Given the description of an element on the screen output the (x, y) to click on. 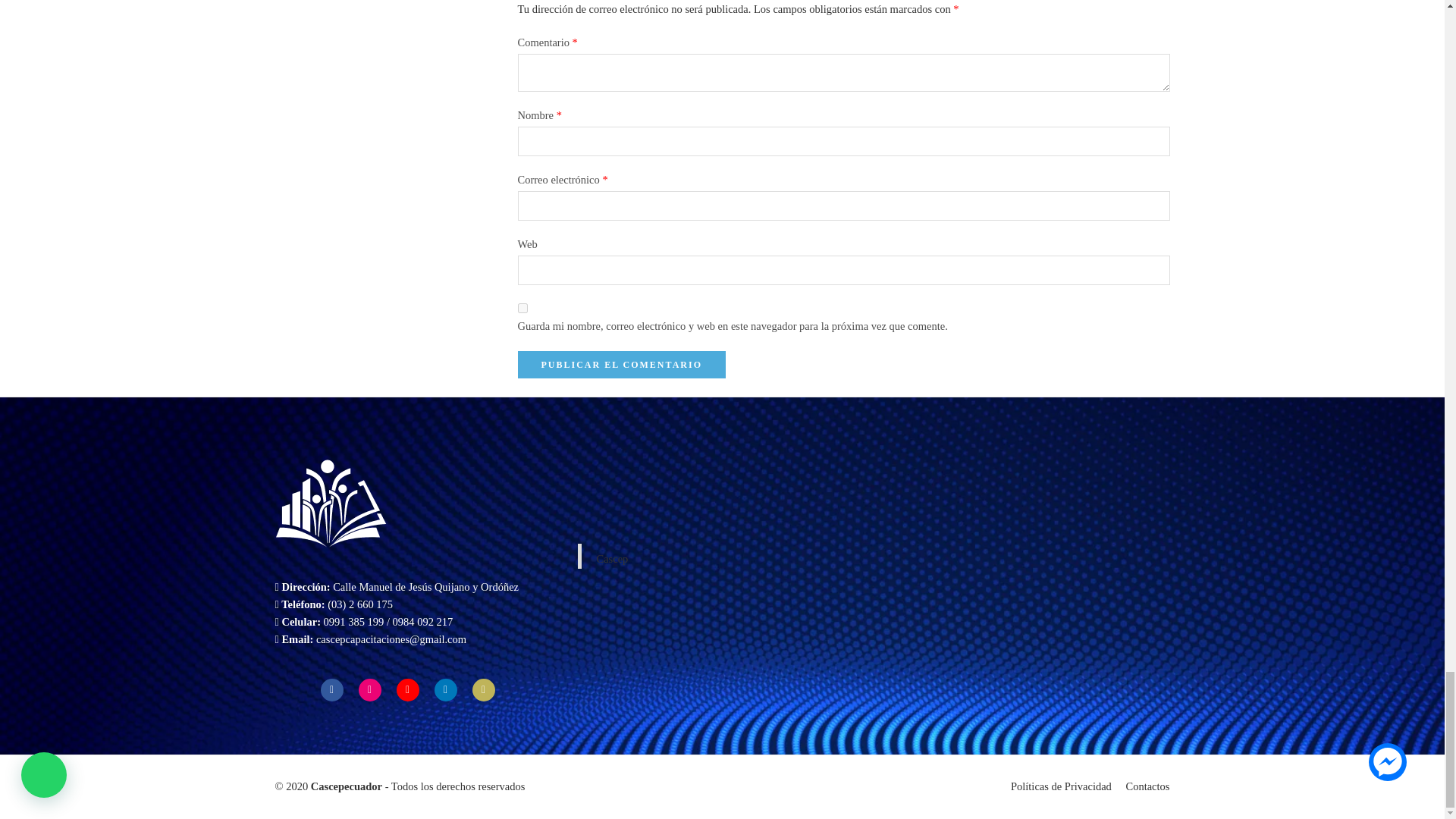
Publicar el comentario (620, 364)
Publicar el comentario (620, 364)
yes (521, 307)
